Given the description of an element on the screen output the (x, y) to click on. 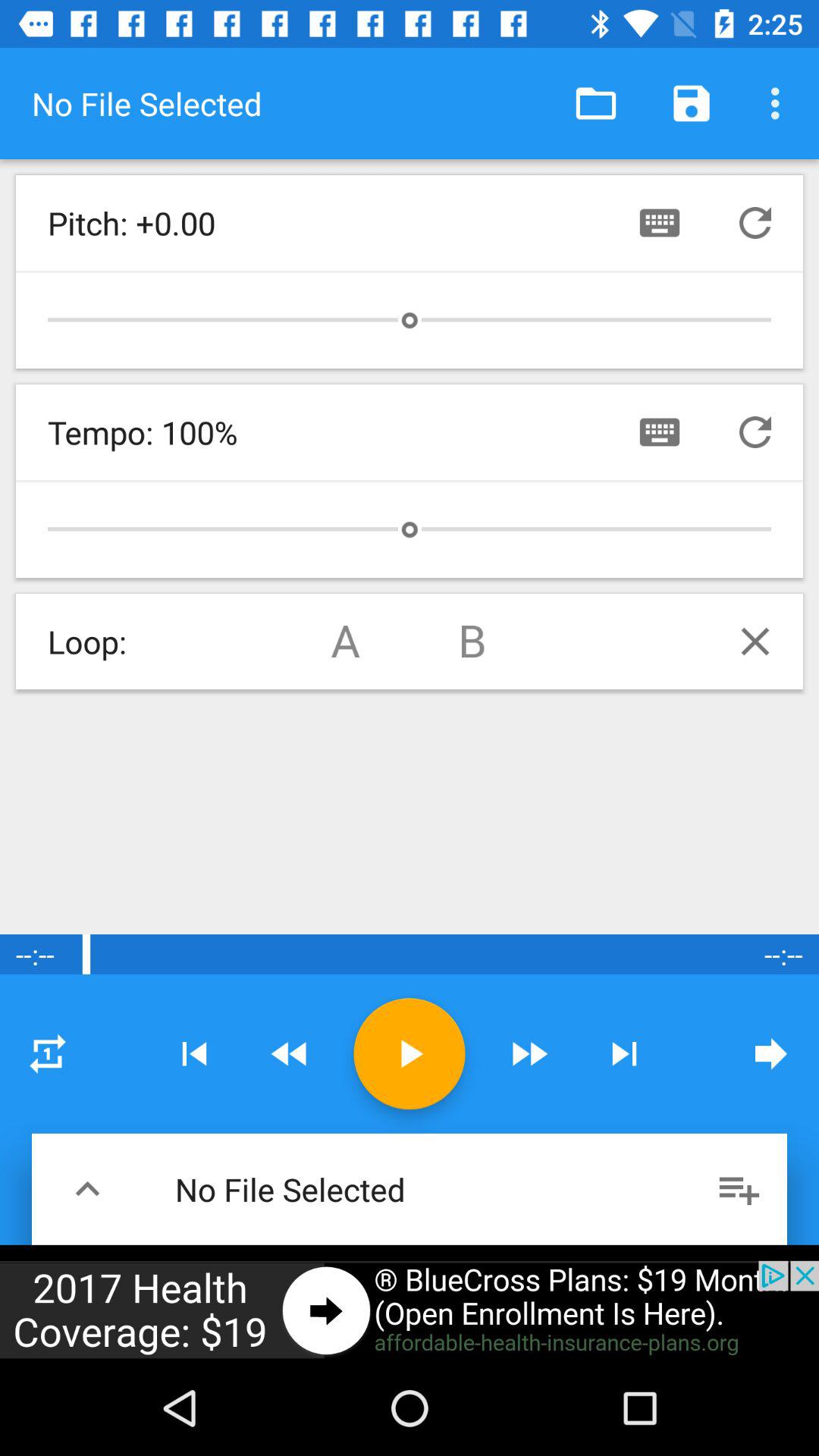
loop b (472, 641)
